Given the description of an element on the screen output the (x, y) to click on. 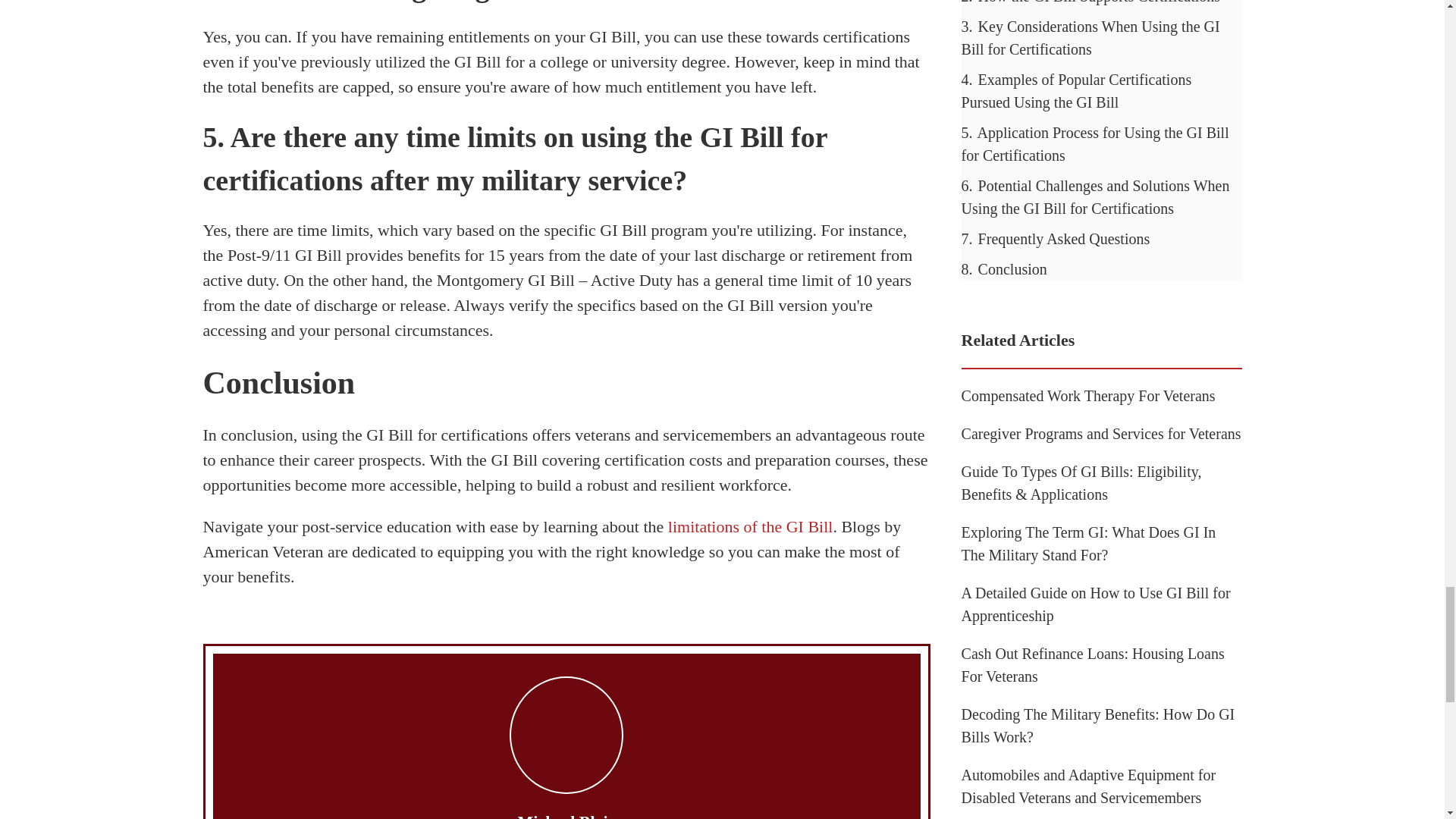
limitations of the GI Bill (750, 526)
Micheal Blair (566, 815)
